Given the description of an element on the screen output the (x, y) to click on. 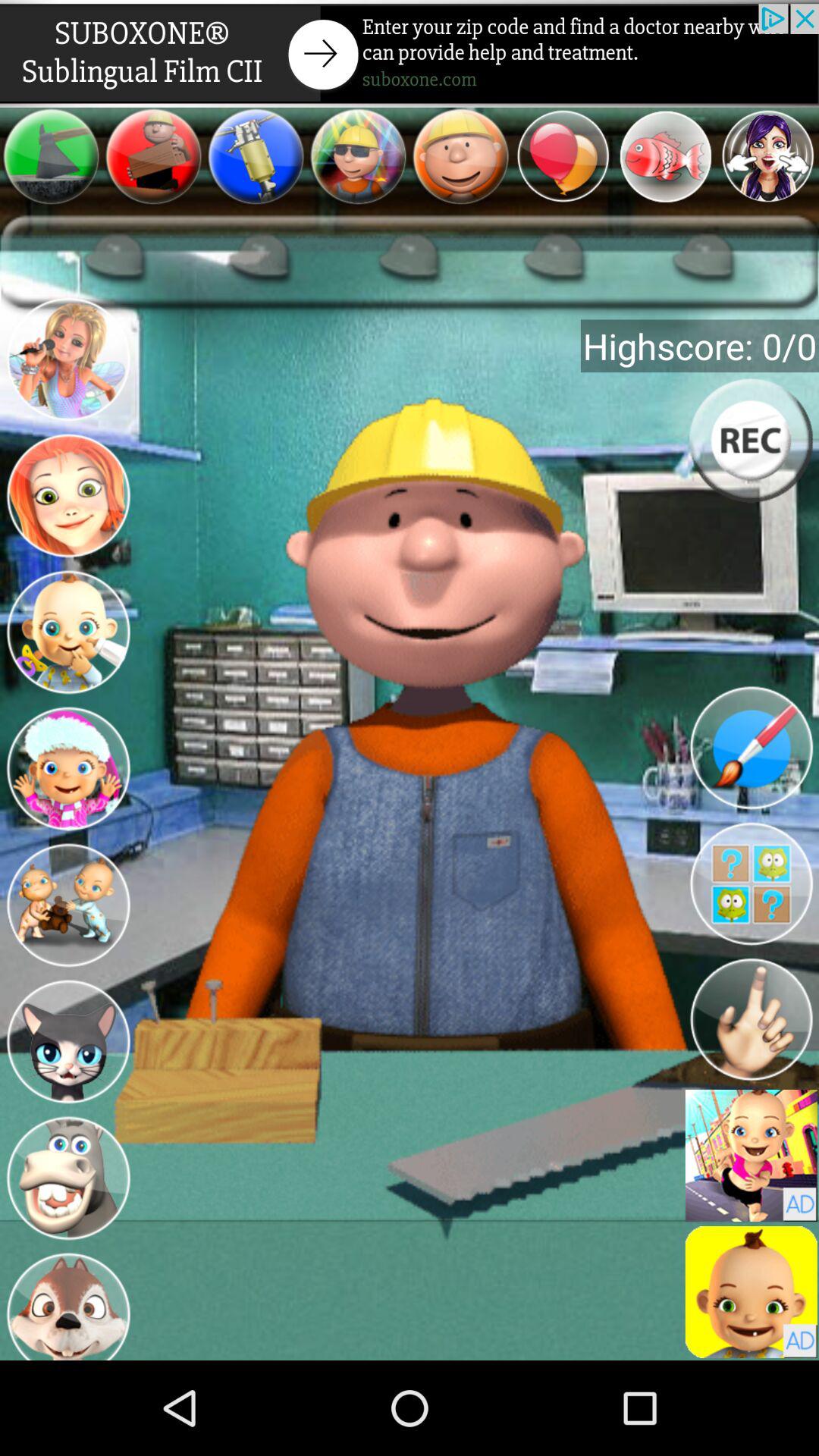
select new character s (68, 361)
